Given the description of an element on the screen output the (x, y) to click on. 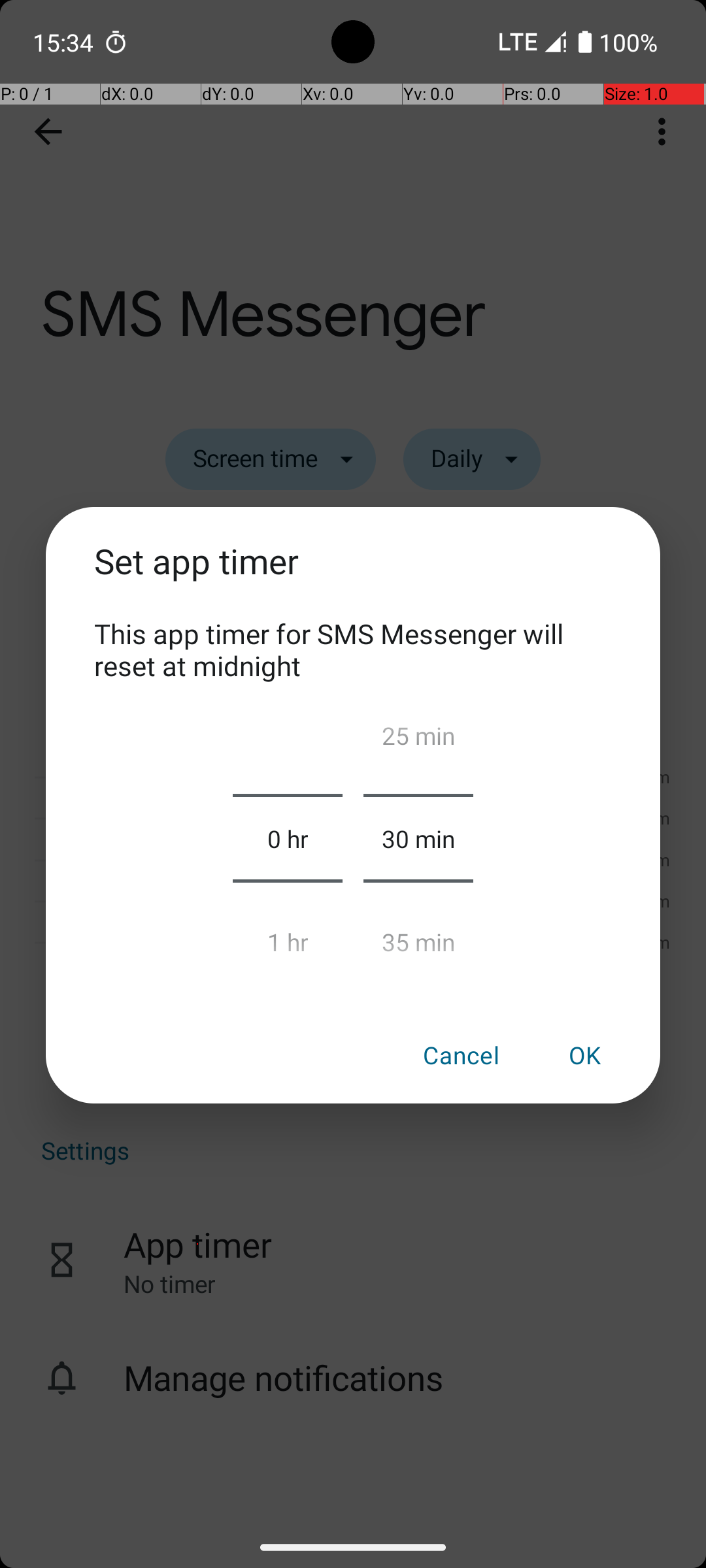
Set app timer Element type: android.widget.TextView (352, 575)
This app timer for SMS Messenger will reset at midnight Element type: android.widget.TextView (352, 649)
0 hr Element type: android.widget.EditText (287, 838)
1 hr Element type: android.widget.Button (287, 936)
25 min Element type: android.widget.Button (418, 740)
30 min Element type: android.widget.EditText (418, 838)
35 min Element type: android.widget.Button (418, 936)
